Given the description of an element on the screen output the (x, y) to click on. 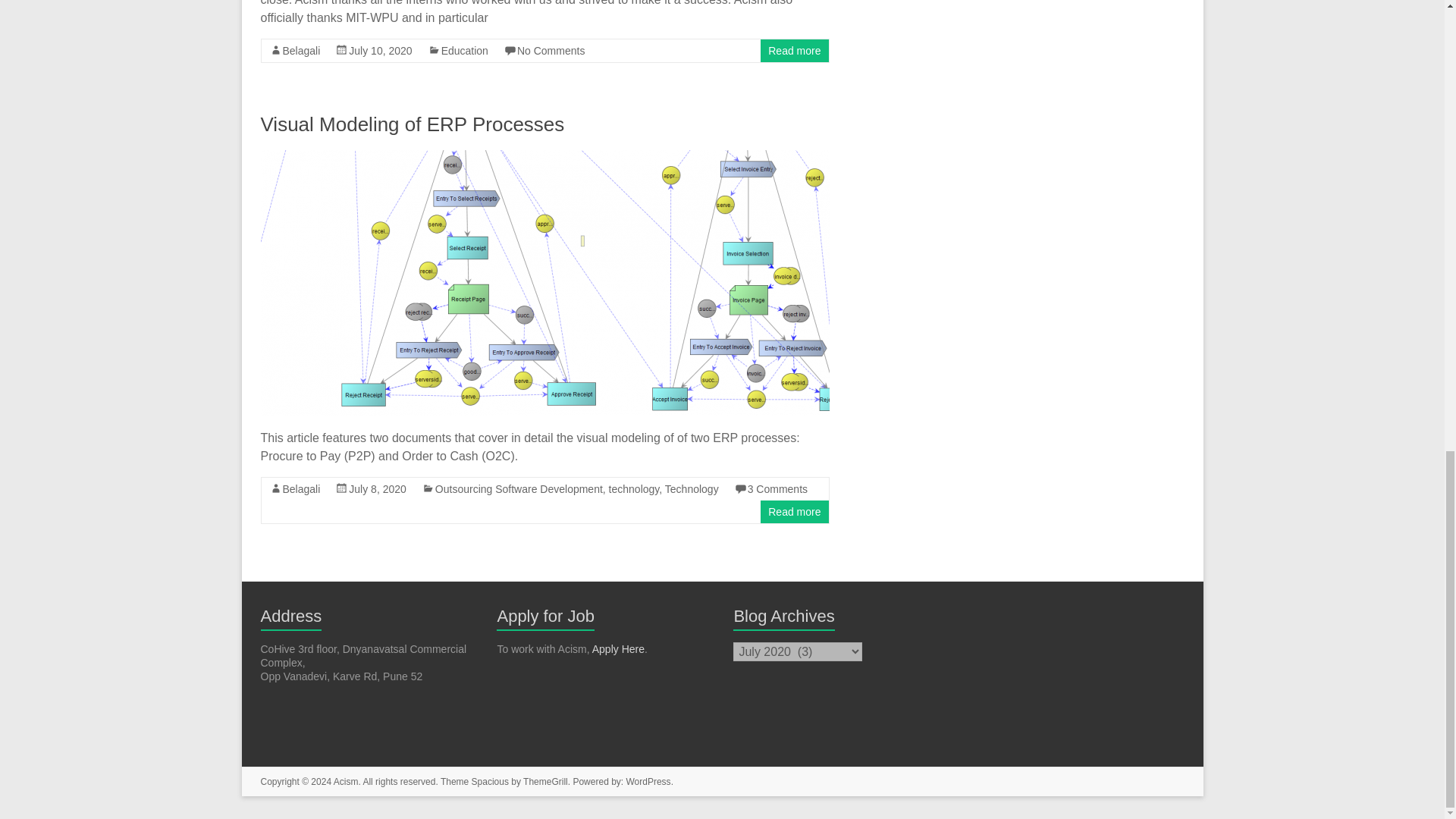
July 10, 2020 (380, 50)
Visual Modeling of ERP Processes (412, 124)
Visual Modeling of ERP Processes (544, 156)
Spacious (489, 781)
WordPress (647, 781)
2:42 pm (377, 489)
10:26 am (380, 50)
Belagali (301, 50)
No Comments (550, 50)
Education (464, 50)
Acism (345, 781)
Read more (794, 50)
